Given the description of an element on the screen output the (x, y) to click on. 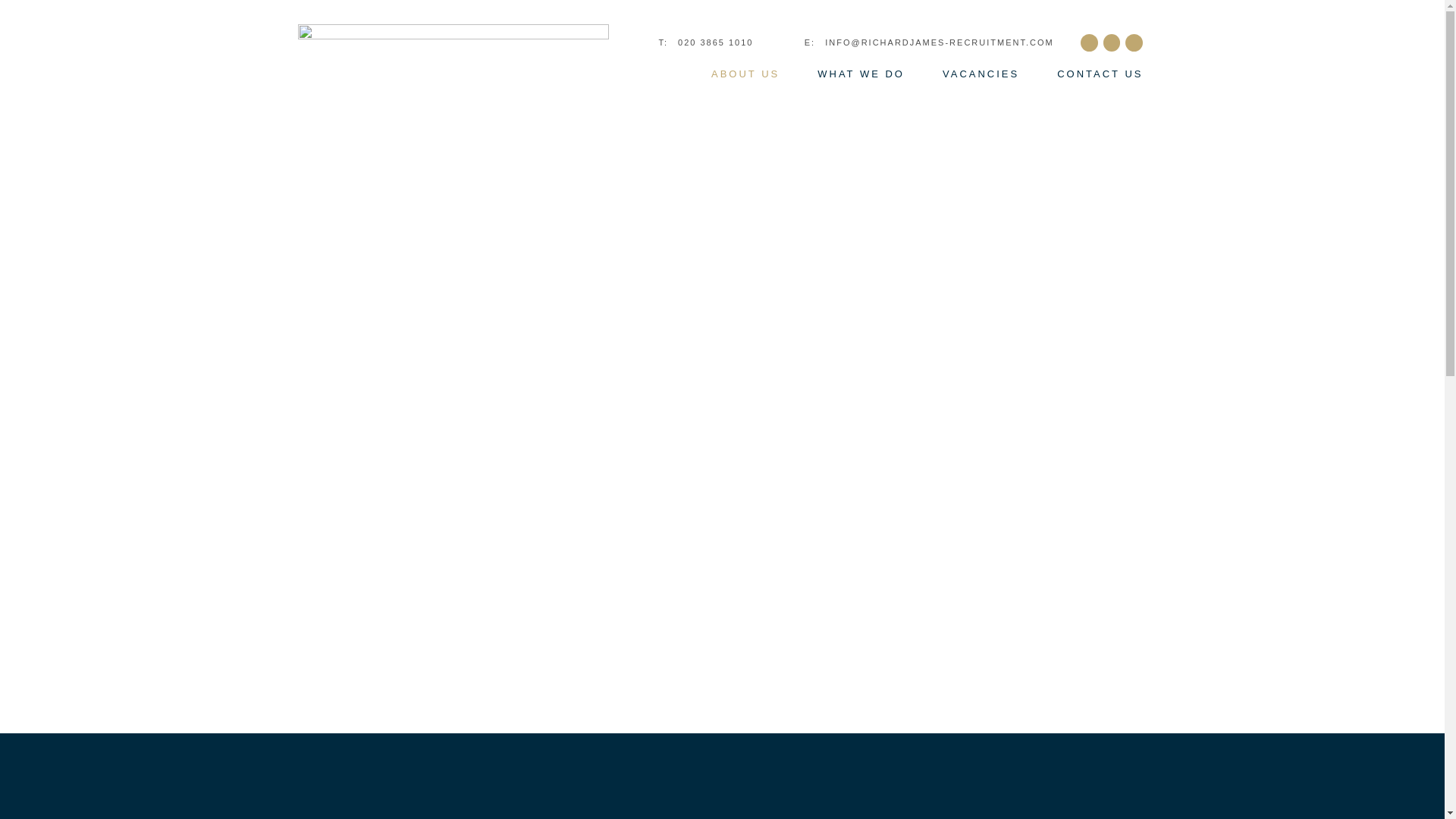
VACANCIES (980, 73)
T: 020 3865 1010 (705, 41)
WHAT WE DO (860, 73)
ABOUT US (745, 73)
CONTACT US (1099, 73)
